Given the description of an element on the screen output the (x, y) to click on. 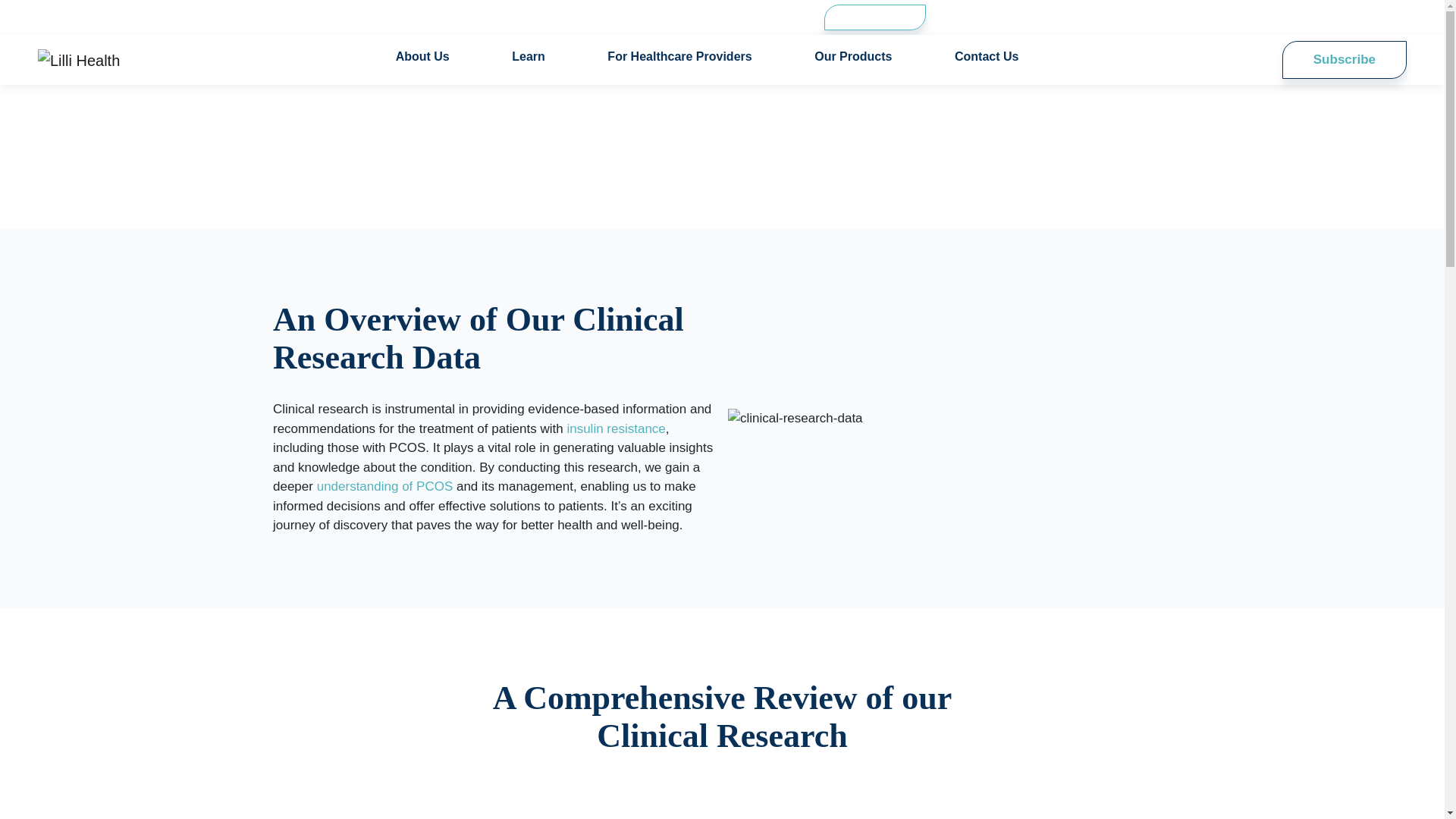
Subscribe (1344, 59)
Learn More (875, 17)
Learn (537, 56)
Our Products (863, 56)
Contact Us (987, 56)
For Healthcare Providers (689, 56)
About Us (433, 56)
Lilli Health (78, 60)
Learn (537, 56)
About Us (433, 56)
